Given the description of an element on the screen output the (x, y) to click on. 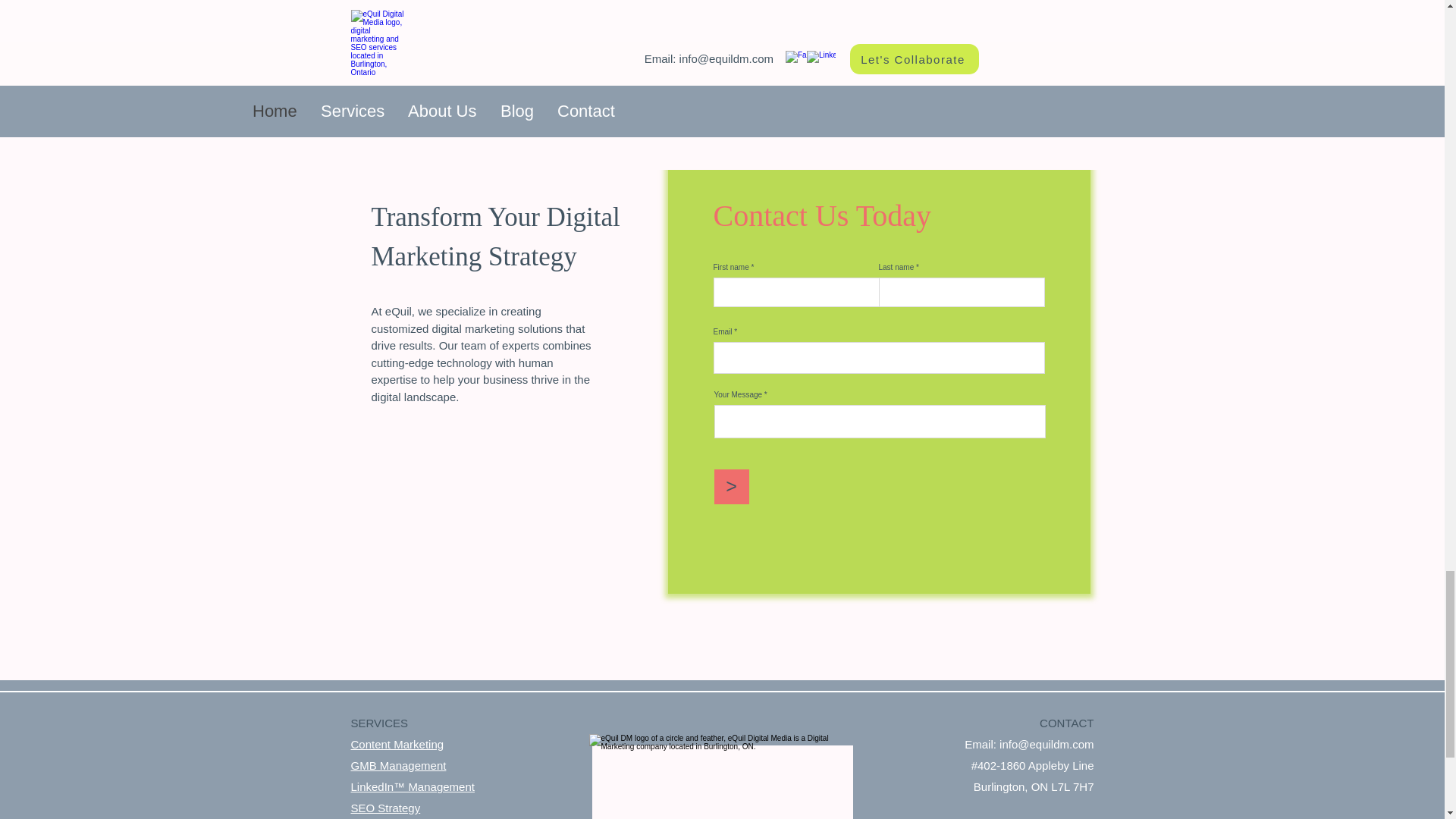
Content Marketing (397, 744)
Learn More About eQuil (721, 79)
GMB Management (397, 765)
SEO Strategy (385, 807)
